Given the description of an element on the screen output the (x, y) to click on. 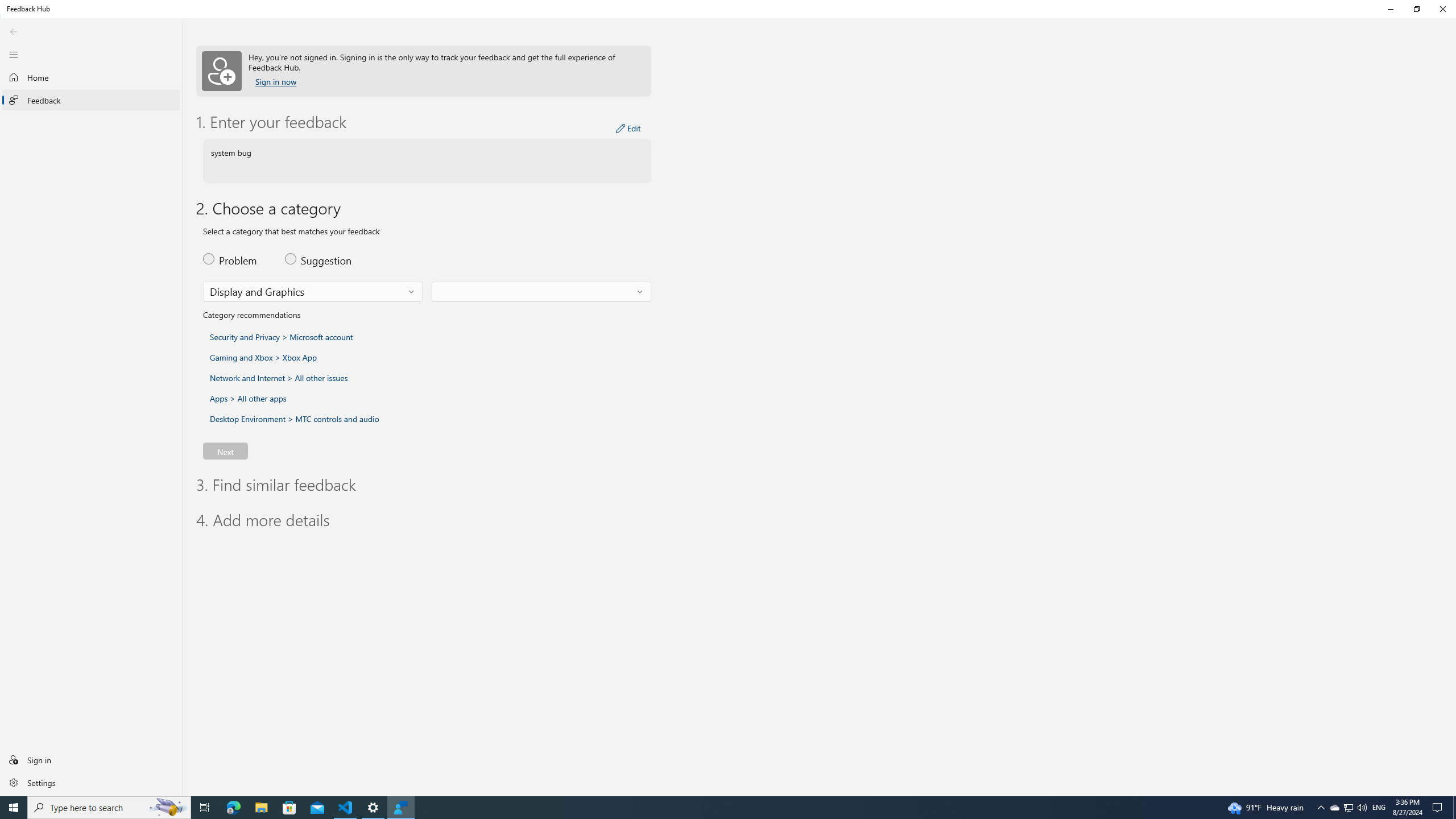
Feedback (90, 100)
